Given the description of an element on the screen output the (x, y) to click on. 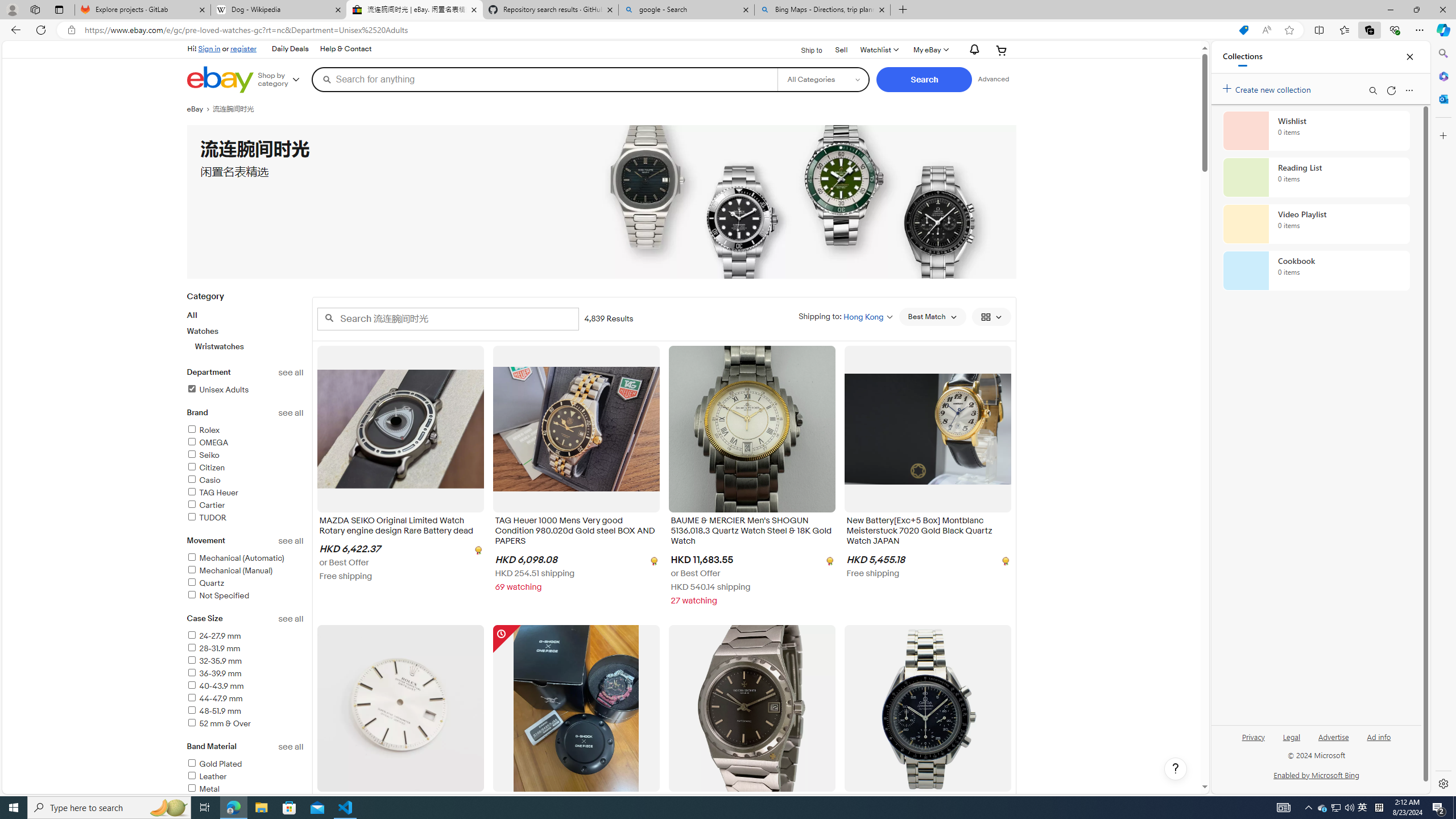
Your shopping cart (1001, 49)
My eBay (930, 49)
Reading List collection, 0 items (1316, 177)
Watchlist (878, 49)
OMEGA (245, 443)
Shop by category (282, 79)
32-35.9 mm (245, 661)
Mechanical (Automatic) (234, 558)
52 mm & Over (218, 723)
TAG Heuer (245, 493)
